Given the description of an element on the screen output the (x, y) to click on. 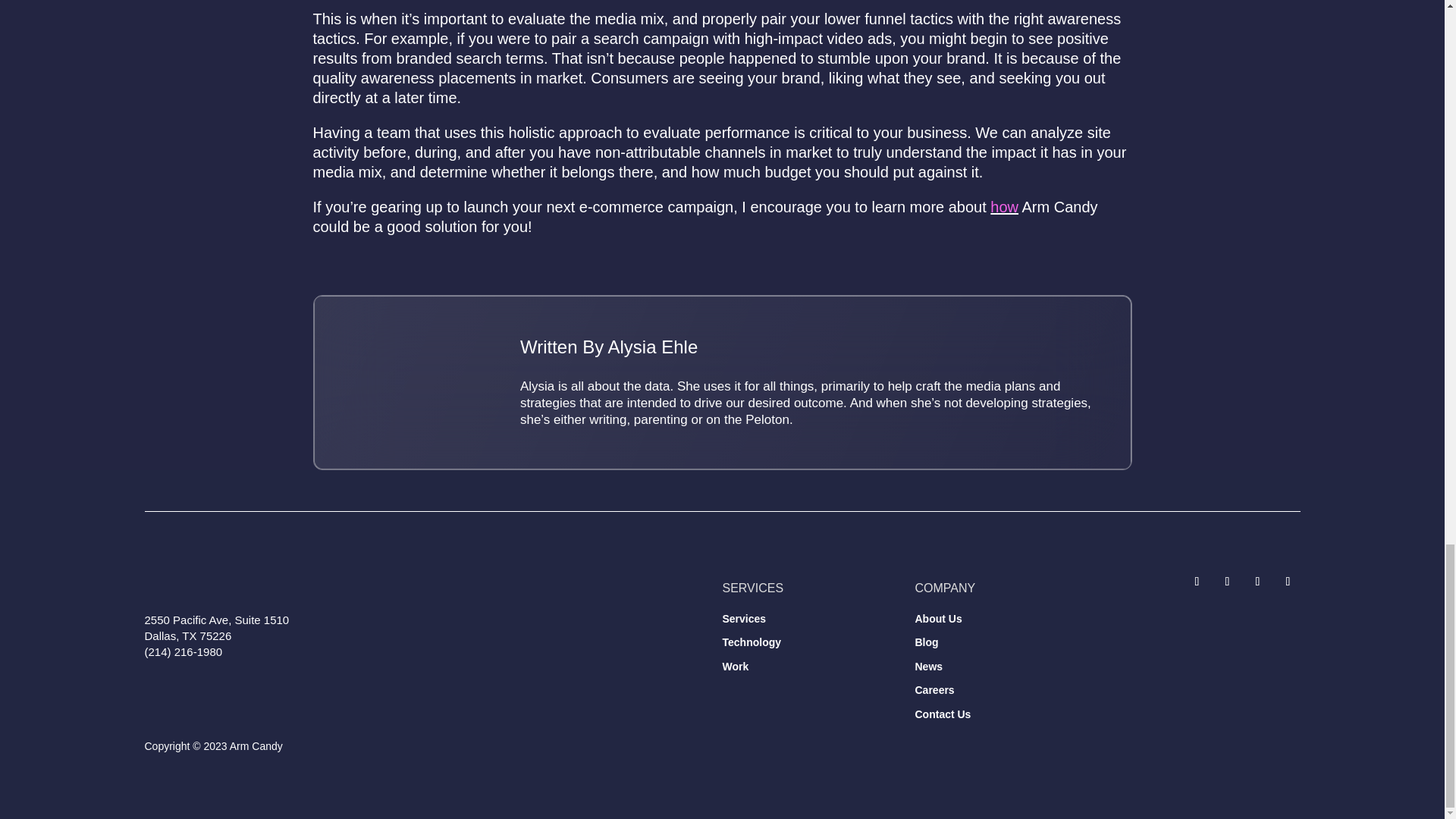
Follow on Instagram (1256, 581)
how (1003, 207)
Technology (751, 642)
Follow on X (1196, 581)
Contact Us (942, 714)
News (928, 666)
Work (735, 666)
About Us (937, 618)
Blog (925, 642)
Follow on LinkedIn (1287, 581)
Services (743, 618)
Follow on Facebook (1226, 581)
Careers (933, 689)
Arm Candy - logo - dark bg (245, 583)
